Given the description of an element on the screen output the (x, y) to click on. 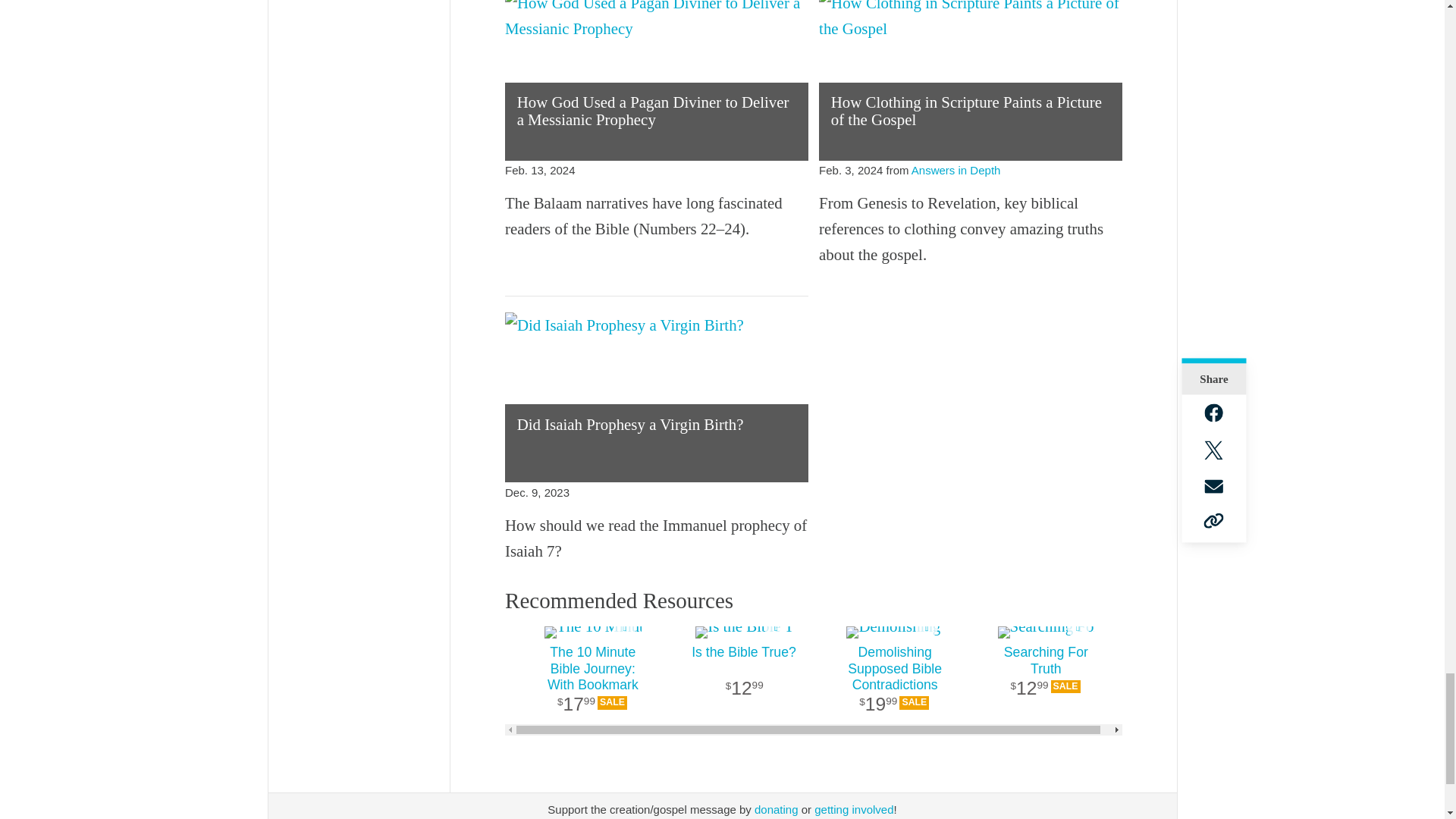
Is the Bible True? (742, 632)
Is the Bible True? (743, 680)
The 10 Minute Bible Journey: With Bookmark (592, 680)
The 10 Minute Bible Journey: With Bookmark (592, 632)
